Given the description of an element on the screen output the (x, y) to click on. 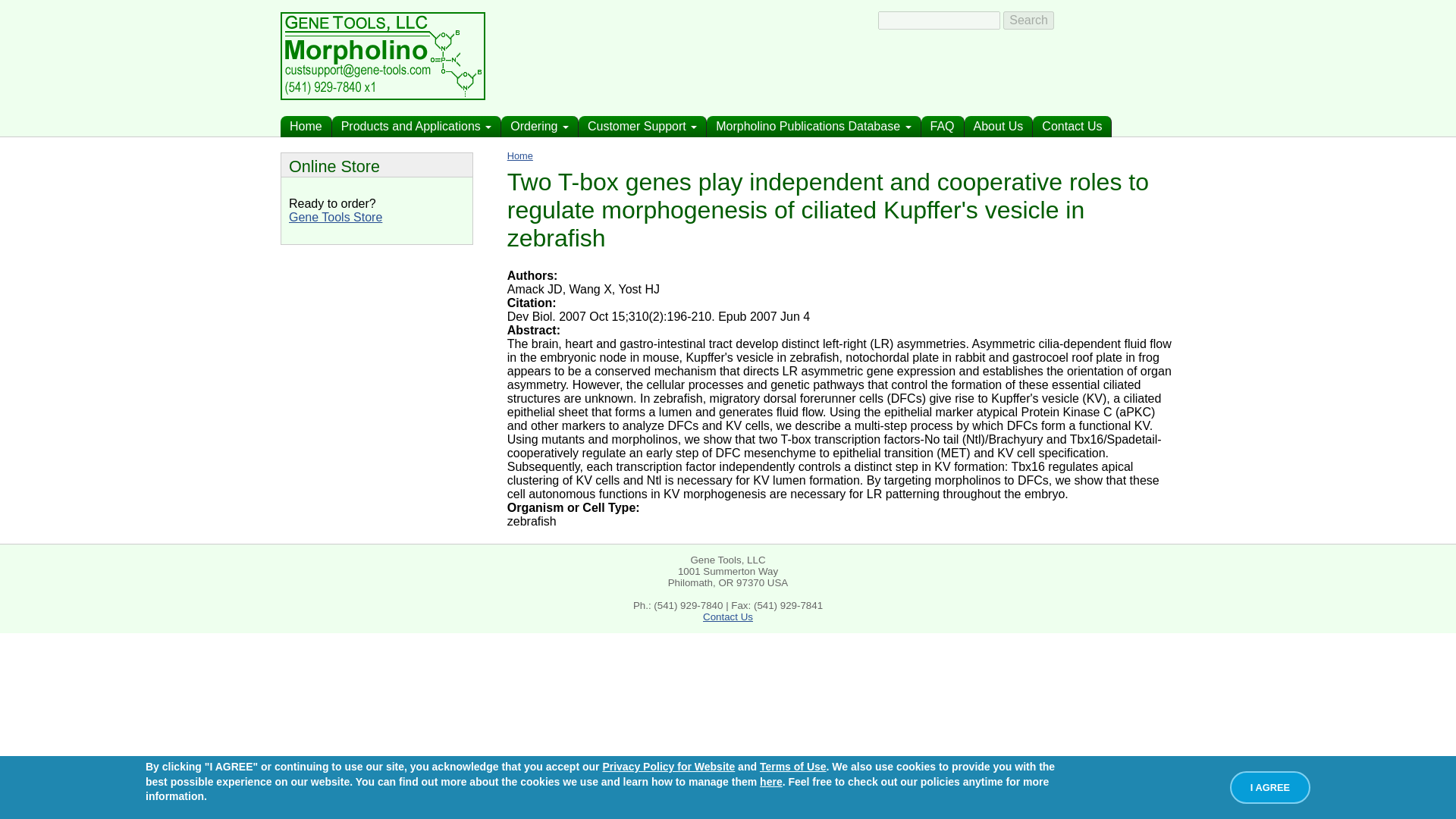
Ordering (539, 126)
Home (382, 95)
Contact Us (1072, 126)
Enter the terms you wish to search for. (938, 20)
Products and Applications (416, 126)
Morpholino Publications Database (813, 126)
Search (1028, 20)
Home (306, 126)
Customer Support (642, 126)
Search (1028, 20)
